Given the description of an element on the screen output the (x, y) to click on. 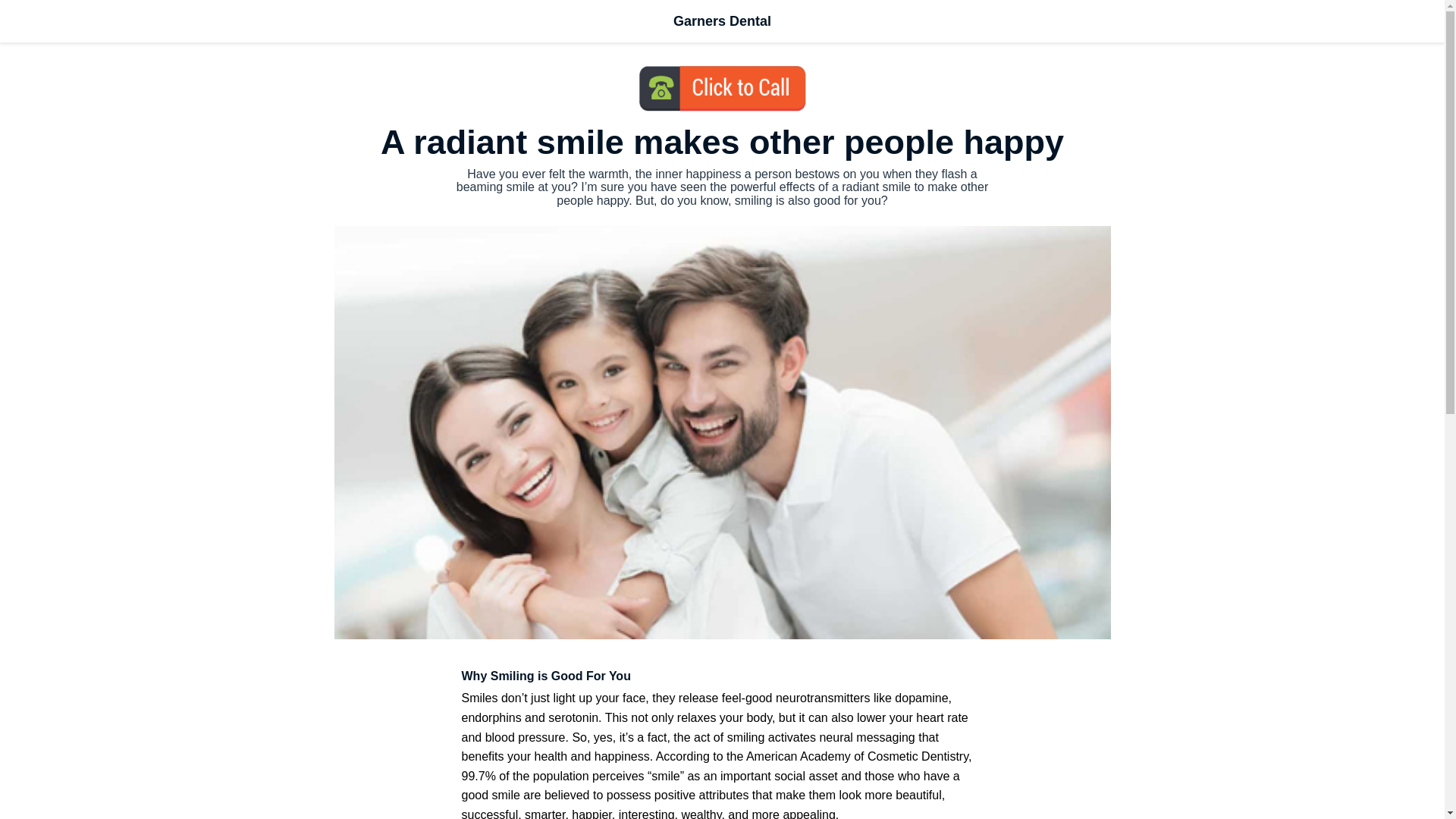
Garners Dental Element type: text (722, 21)
